Given the description of an element on the screen output the (x, y) to click on. 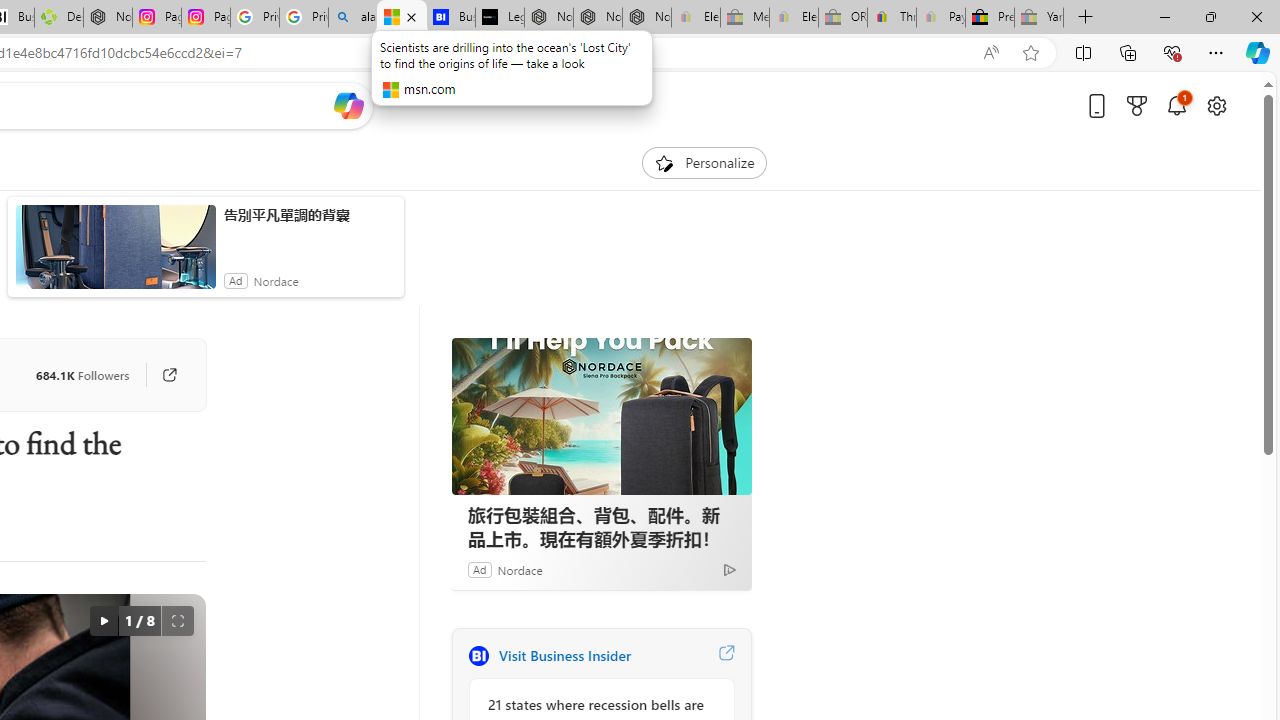
Go to publisher's site (169, 374)
Full screen (177, 620)
